Given the description of an element on the screen output the (x, y) to click on. 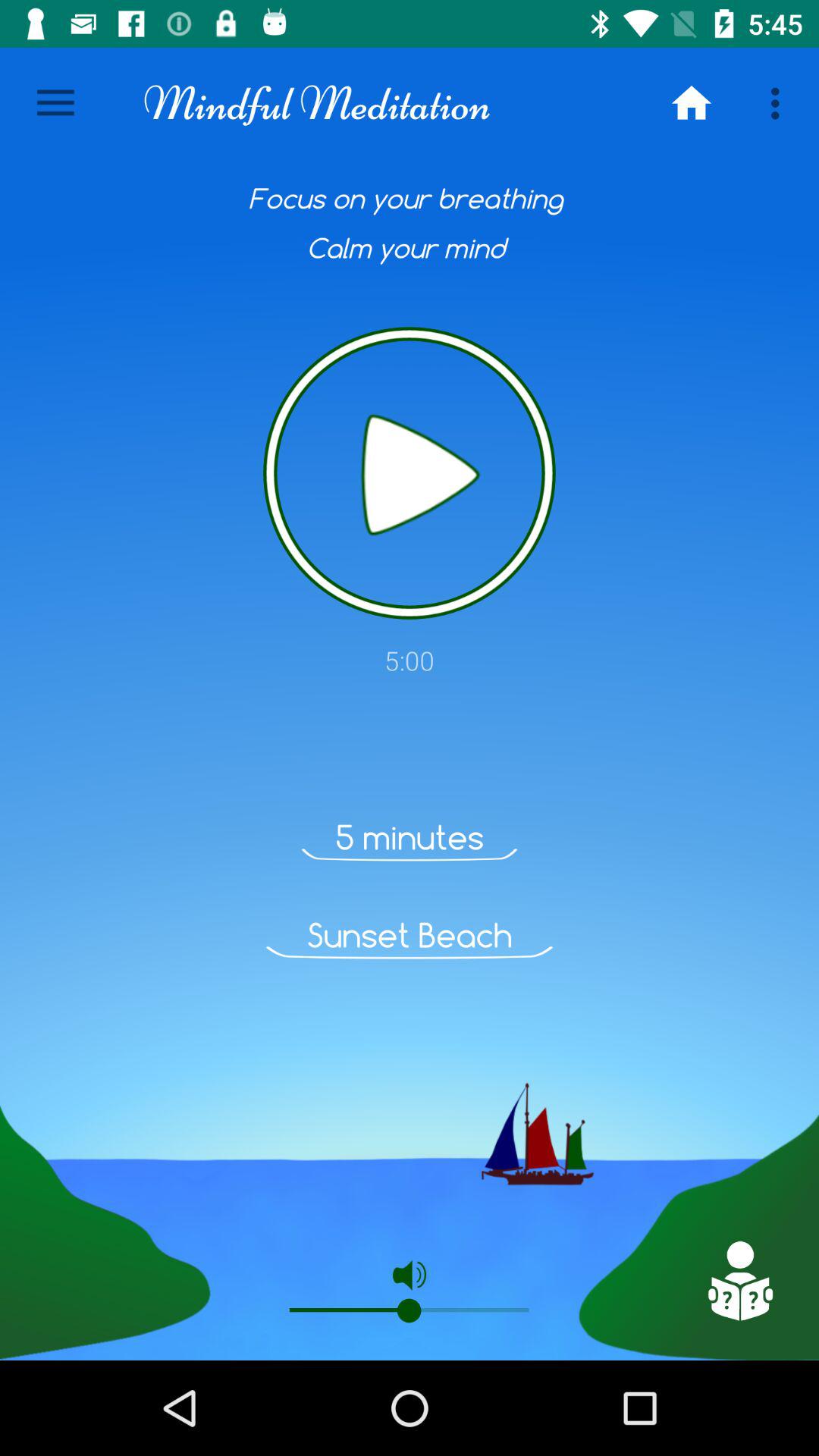
click icon below 5:00 (739, 1280)
